Given the description of an element on the screen output the (x, y) to click on. 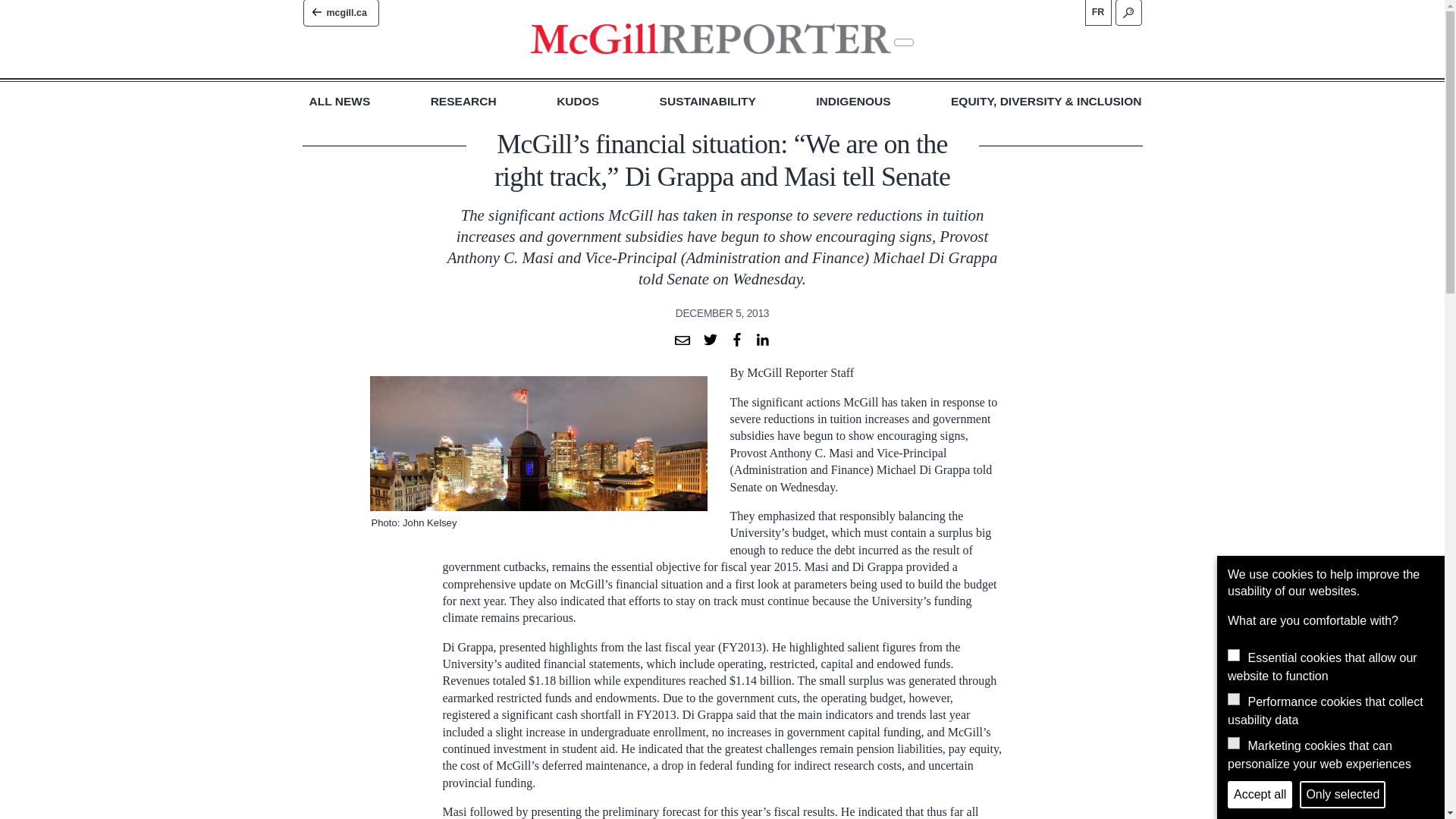
required (1233, 654)
INDIGENOUS (852, 101)
SUSTAINABILITY (707, 101)
FR (1097, 12)
marketing (1233, 743)
mcgill.ca (340, 13)
RESEARCH (463, 101)
KUDOS (576, 101)
ALL NEWS (339, 101)
performance (1233, 698)
